Given the description of an element on the screen output the (x, y) to click on. 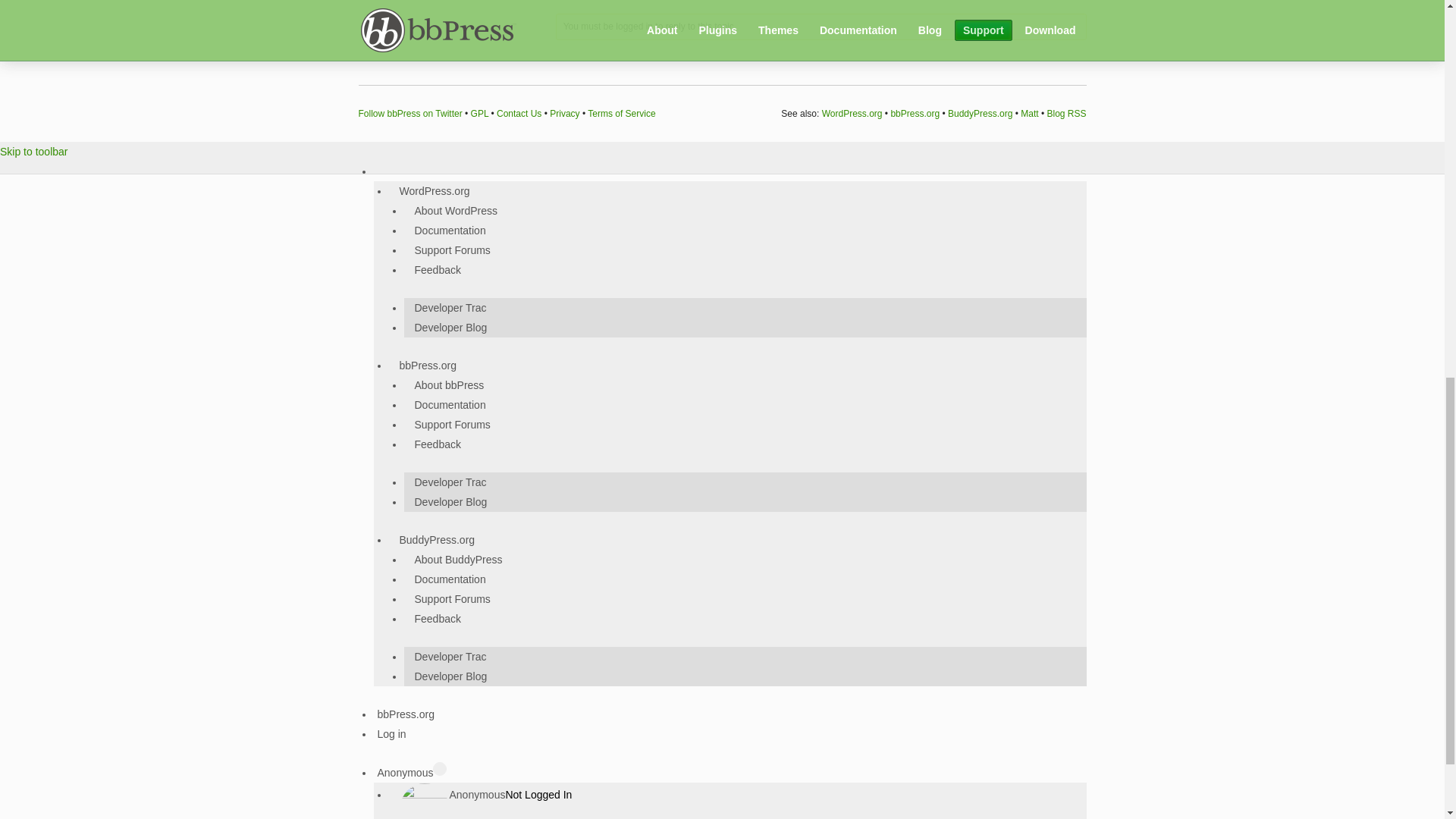
Follow bbPress on Twitter (409, 113)
Contact Us (518, 113)
bbPress.org (914, 113)
Blog RSS (1066, 113)
Matt (1029, 113)
GPL (479, 113)
Privacy (564, 113)
Terms of Service (621, 113)
WordPress.org (852, 113)
BuddyPress.org (979, 113)
Skip to toolbar (34, 151)
